Given the description of an element on the screen output the (x, y) to click on. 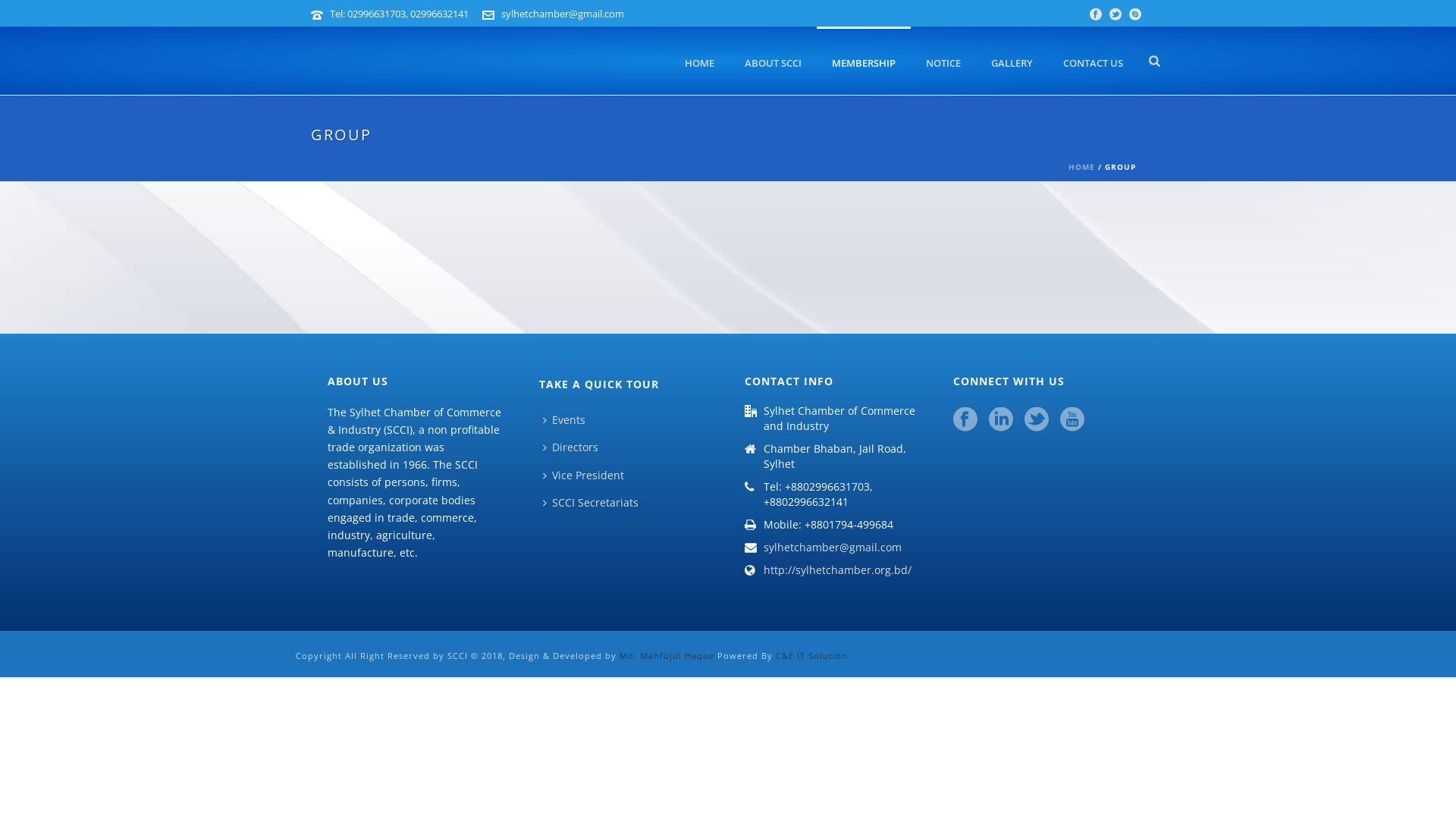
Md. Mahfujul Haque Element type: text (666, 655)
NOTICE Element type: text (942, 60)
CONTACT US Element type: text (1093, 60)
SCCI Secretariats Element type: text (594, 503)
ABOUT SCCI Element type: text (772, 60)
Follow Us on facebook Element type: hover (965, 420)
Vice President Element type: text (587, 475)
C&E IT Solution Element type: text (811, 655)
Follow Us on linkedin Element type: hover (1000, 420)
Events Element type: text (567, 420)
Tel: 02996631703, 02996632141 Element type: text (398, 13)
GALLERY Element type: text (1011, 60)
http://sylhetchamber.org.bd/ Element type: text (837, 570)
Directors Element type: text (574, 447)
Follow Us on twitter Element type: hover (1036, 420)
sylhetchamber@gmail.com Element type: text (832, 547)
sylhetchamber@gmail.com Element type: text (562, 13)
HOME Element type: text (699, 60)
MEMBERSHIP Element type: text (863, 60)
Follow Us on youtube Element type: hover (1072, 420)
HOME Element type: text (1081, 166)
